Given the description of an element on the screen output the (x, y) to click on. 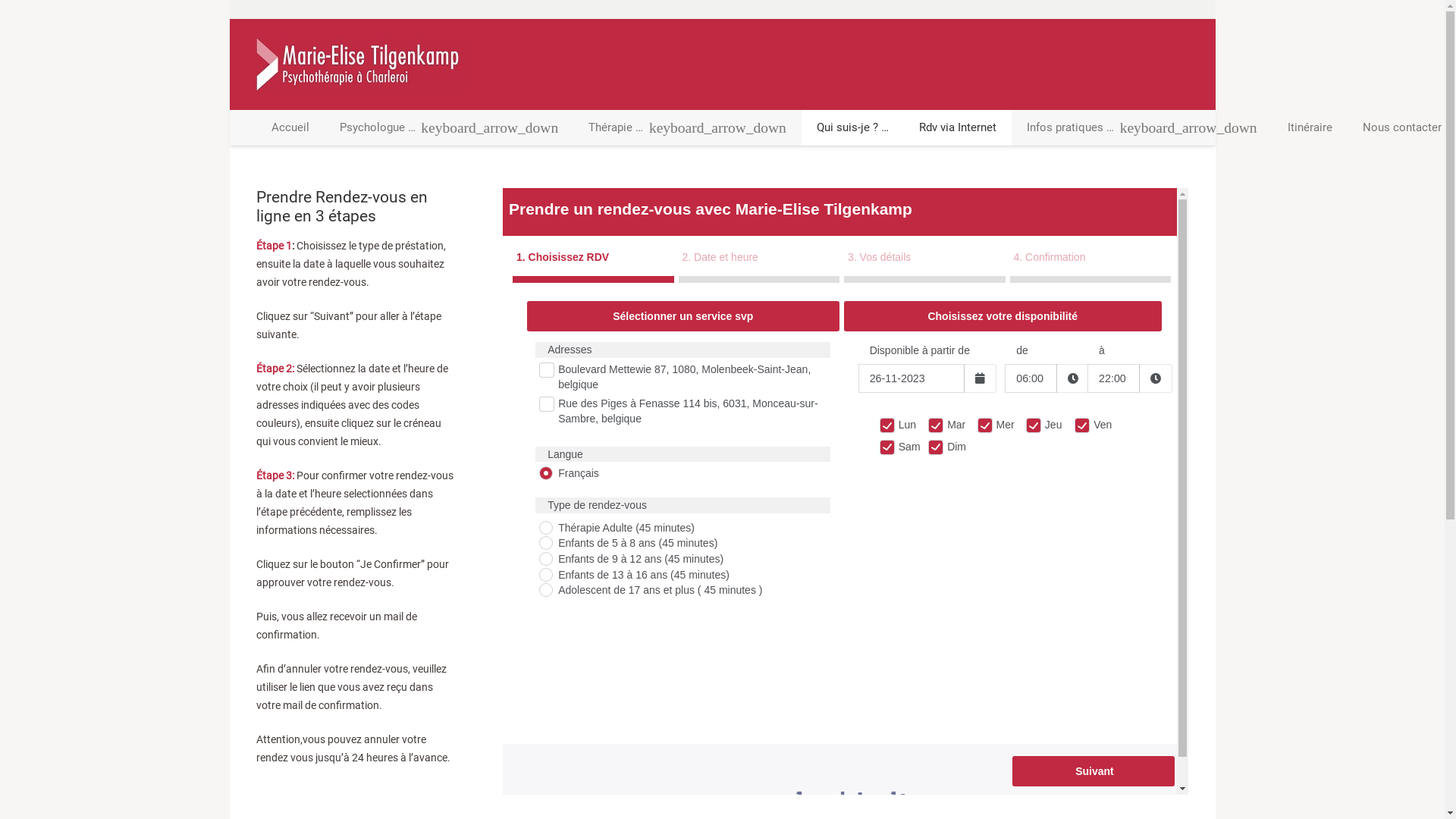
Accueil Element type: text (290, 127)
Rdv via Internet Element type: text (957, 127)
